Given the description of an element on the screen output the (x, y) to click on. 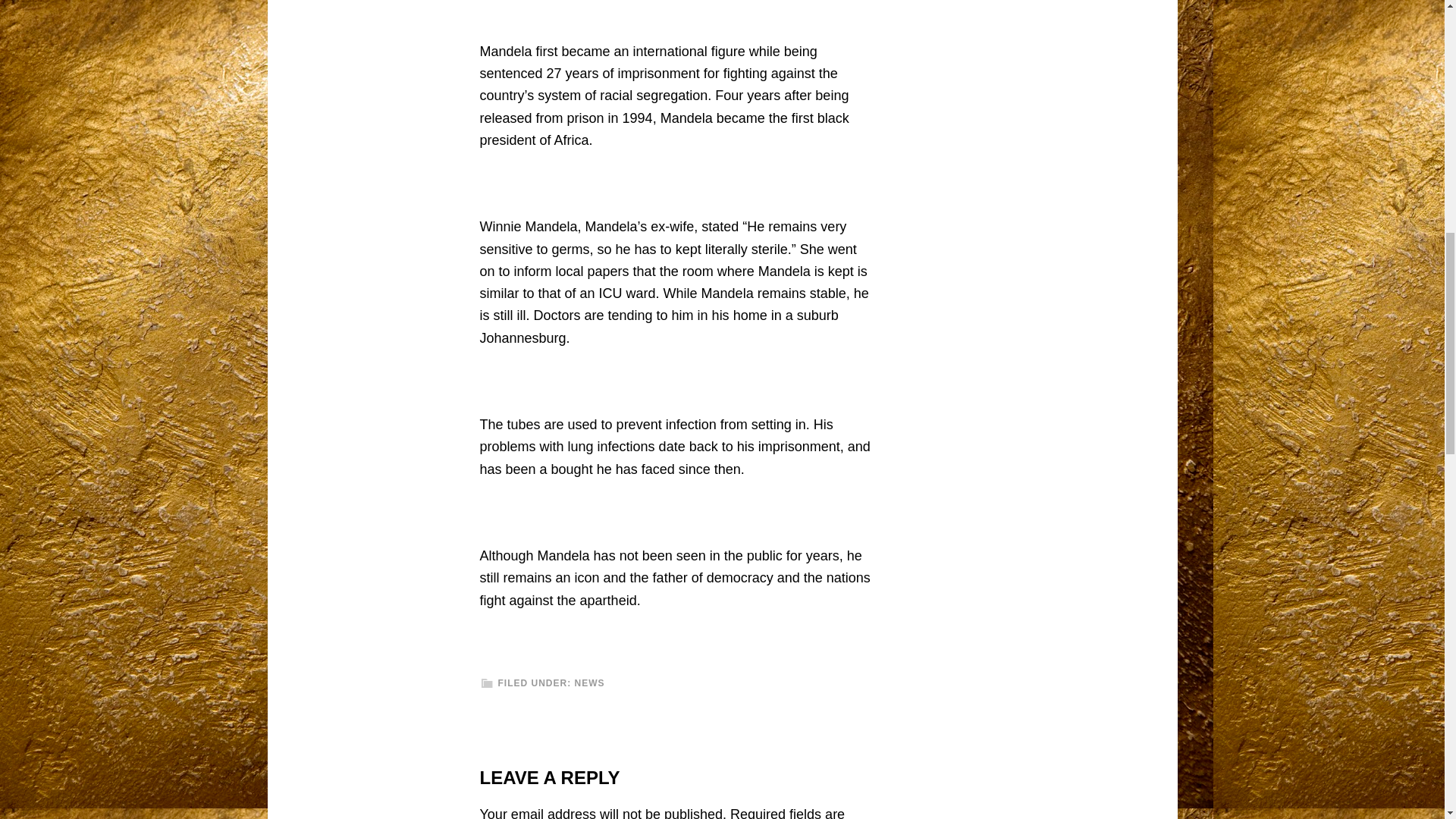
NEWS (590, 683)
